Given the description of an element on the screen output the (x, y) to click on. 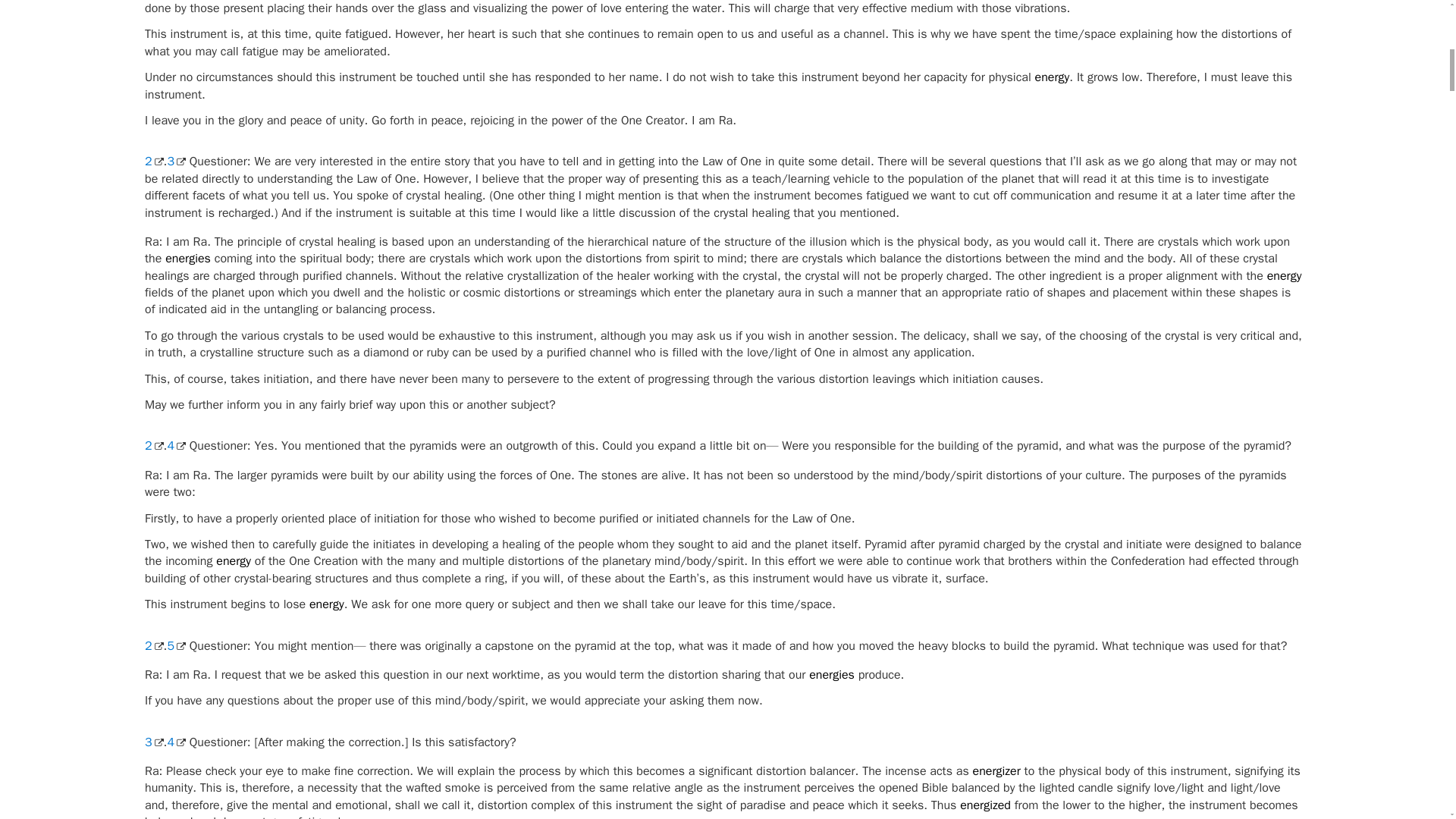
2 (153, 445)
3 (153, 742)
4 (176, 445)
2 (153, 160)
5 (176, 645)
4 (176, 742)
3 (176, 160)
2 (153, 645)
